Given the description of an element on the screen output the (x, y) to click on. 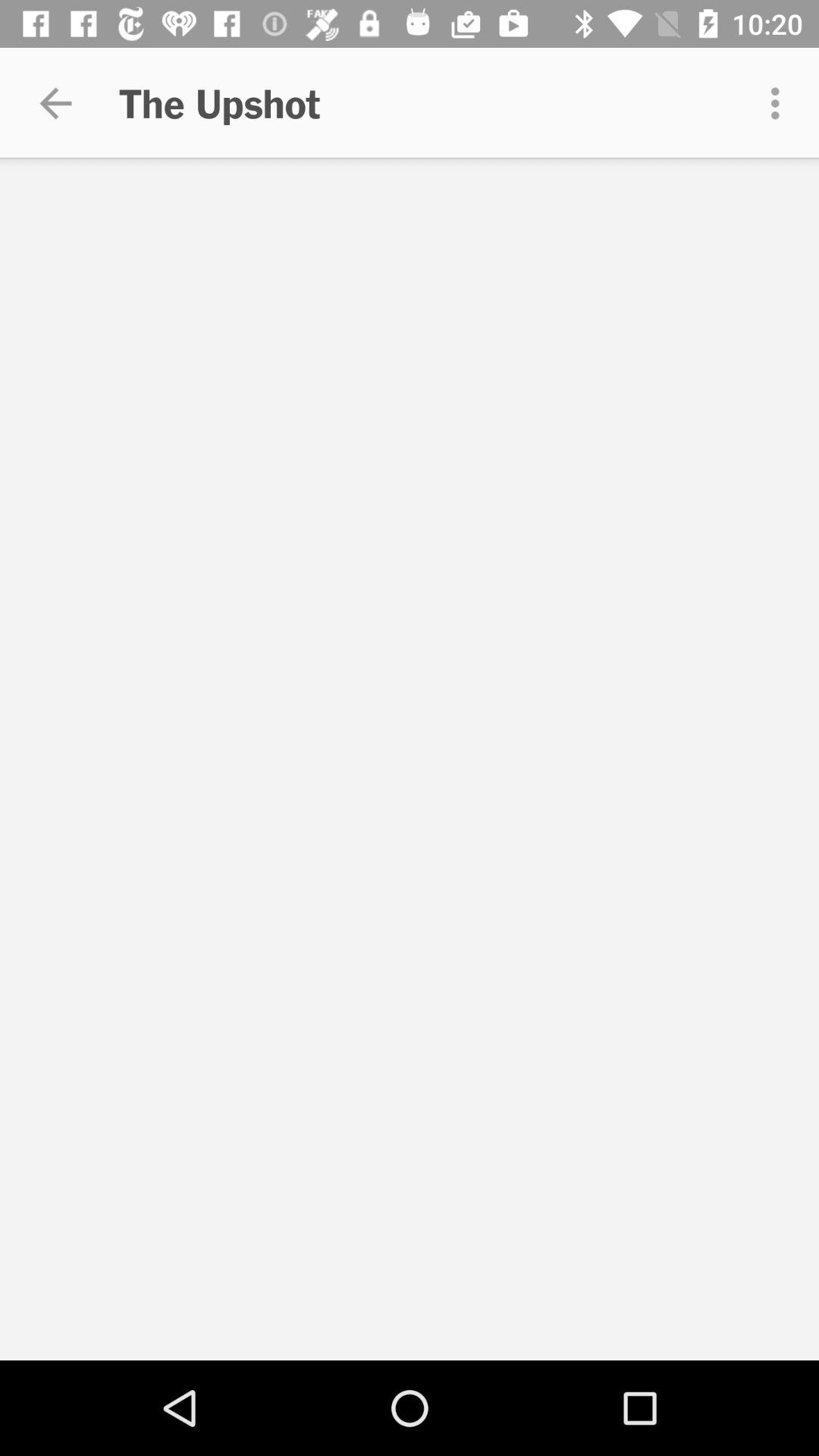
choose app to the left of the upshot item (55, 103)
